Given the description of an element on the screen output the (x, y) to click on. 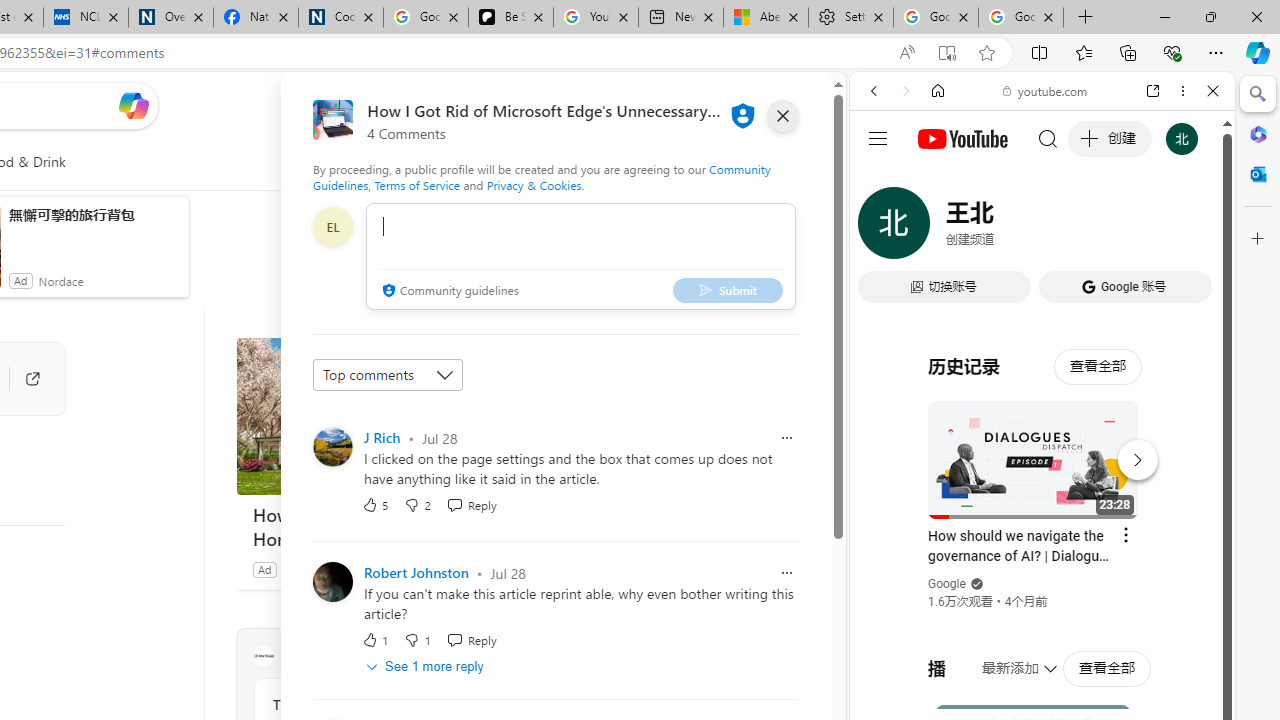
Sort comments by (388, 374)
Settings (851, 17)
Minimize (1164, 16)
Google (947, 584)
Community Guidelines (541, 176)
To get missing image descriptions, open the context menu. (449, 162)
Favorites (1083, 52)
Close tab (1048, 16)
Search videos from youtube.com (1005, 657)
